Given the description of an element on the screen output the (x, y) to click on. 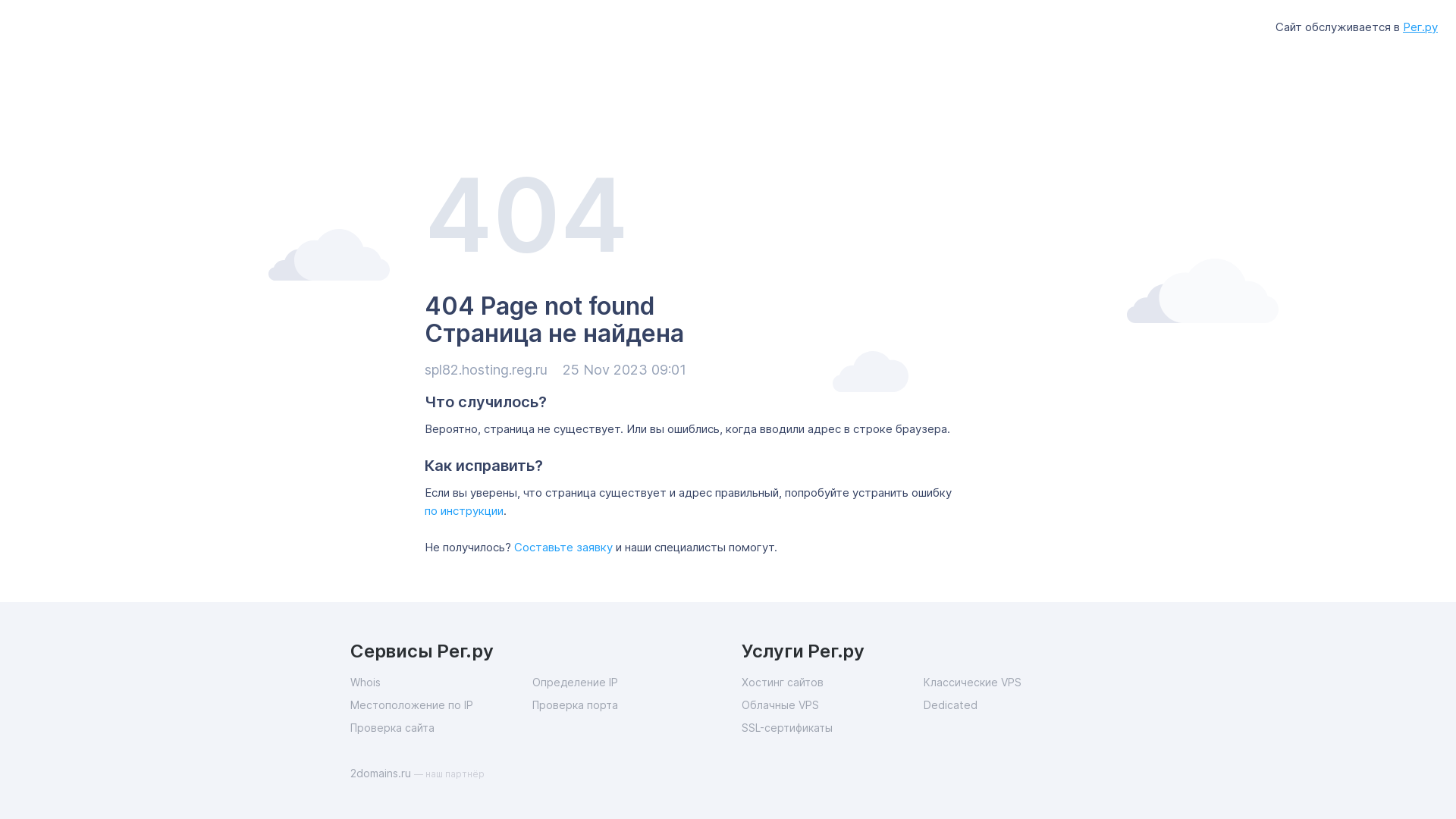
Whois Element type: text (441, 682)
2domains.ru Element type: text (382, 772)
Dedicated Element type: text (1014, 705)
